Given the description of an element on the screen output the (x, y) to click on. 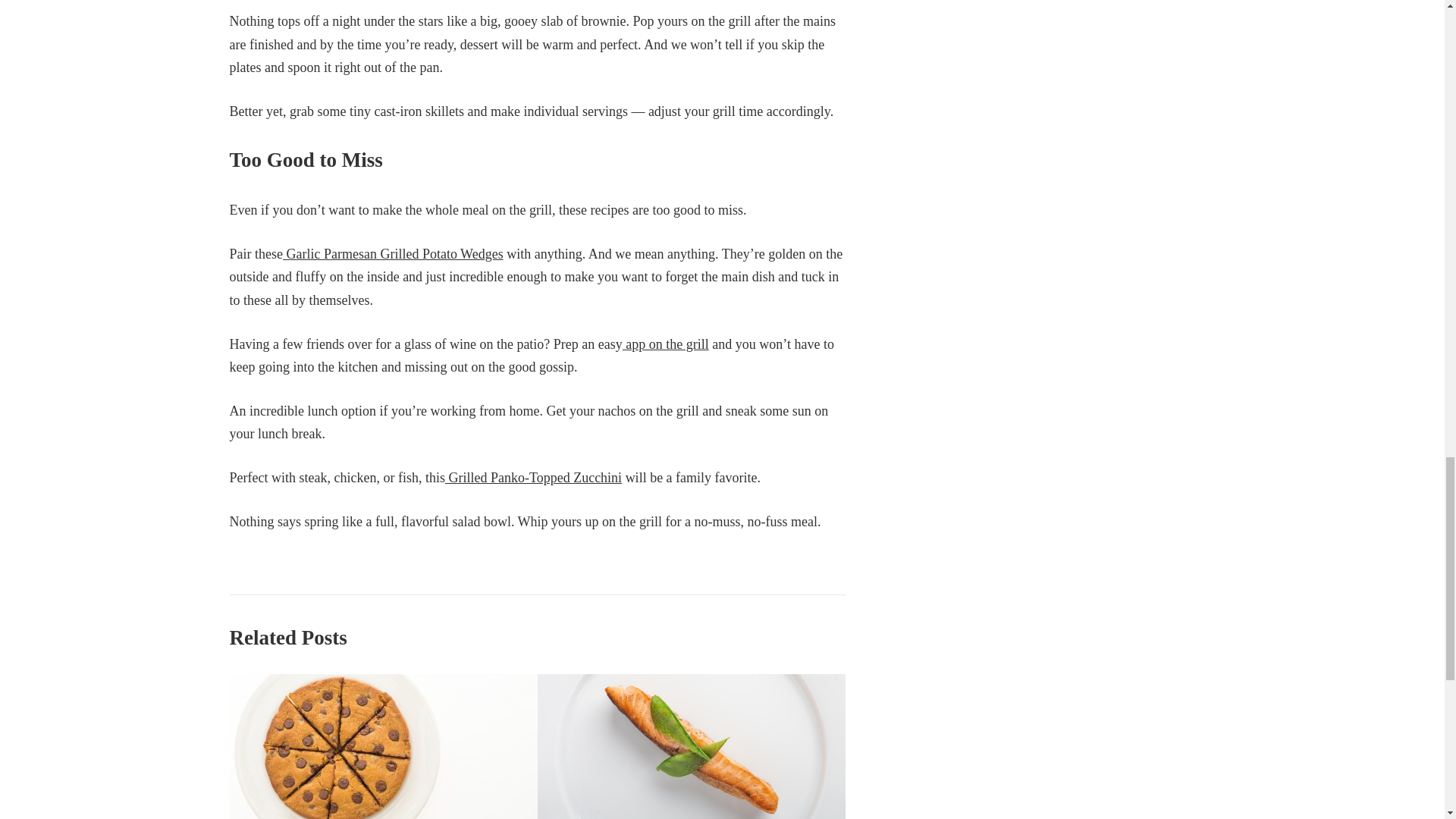
Grilled Panko-Topped Zucchini (533, 477)
app on the grill (666, 344)
Garlic Parmesan Grilled Potato Wedges (392, 253)
